Given the description of an element on the screen output the (x, y) to click on. 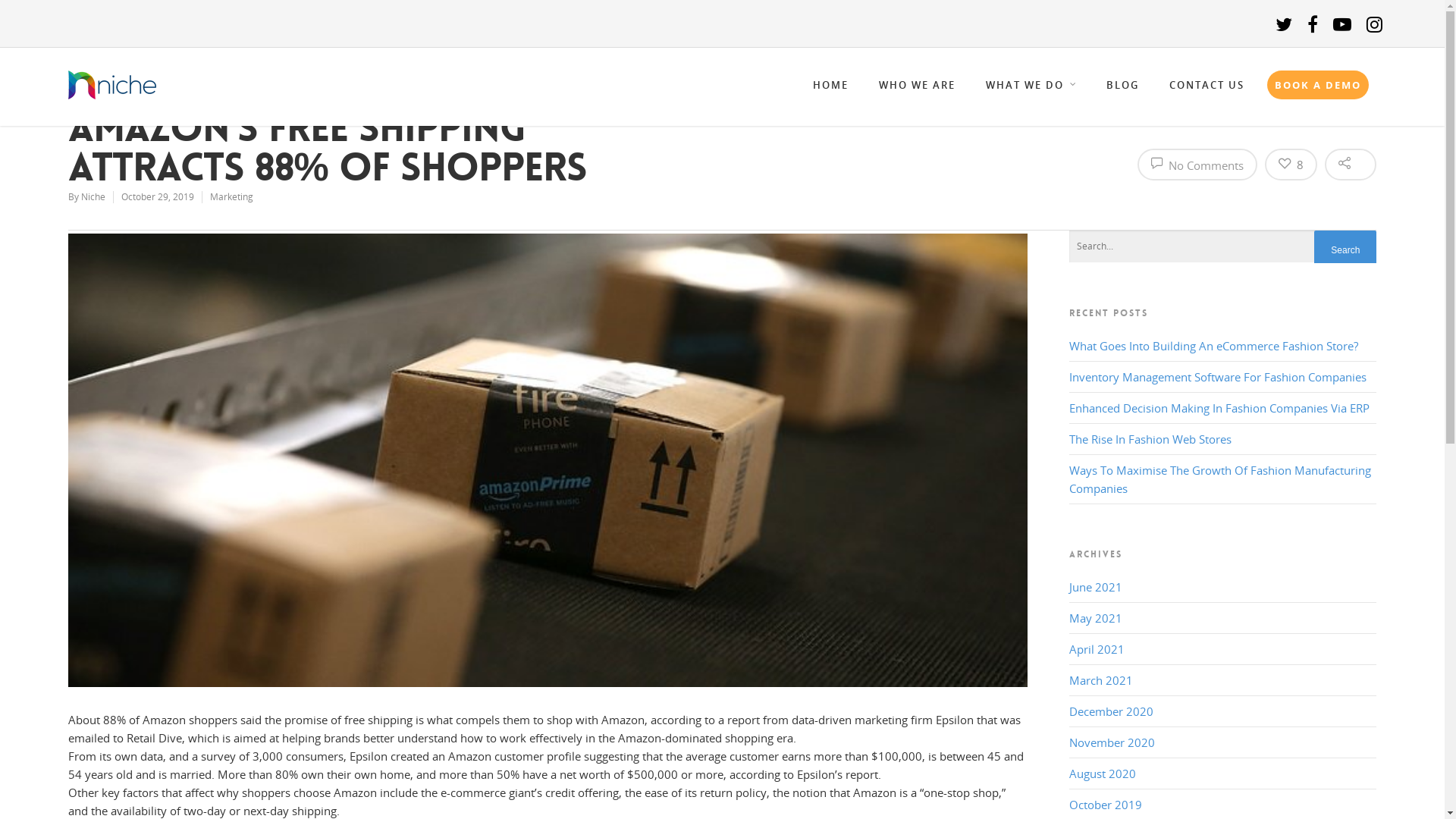
WHAT WE DO Element type: text (1030, 90)
June 2021 Element type: text (1095, 586)
Inventory Management Software For Fashion Companies Element type: text (1217, 376)
No Comments Element type: text (1197, 164)
BOOK A DEMO Element type: text (1317, 84)
What Goes Into Building An eCommerce Fashion Store? Element type: text (1213, 345)
Marketing Element type: text (231, 196)
Search Element type: text (1345, 249)
CONTACT US Element type: text (1206, 90)
BLOG Element type: text (1122, 90)
The Rise In Fashion Web Stores Element type: text (1150, 438)
WHO WE ARE Element type: text (917, 90)
Search for: Element type: hover (1223, 246)
Enhanced Decision Making In Fashion Companies Via ERP Element type: text (1219, 407)
August 2020 Element type: text (1102, 773)
November 2020 Element type: text (1111, 741)
May 2021 Element type: text (1095, 617)
Niche Element type: text (93, 196)
March 2021 Element type: text (1100, 679)
April 2021 Element type: text (1096, 648)
October 2019 Element type: text (1105, 804)
December 2020 Element type: text (1111, 710)
8 Element type: text (1290, 164)
HOME Element type: text (830, 90)
